Given the description of an element on the screen output the (x, y) to click on. 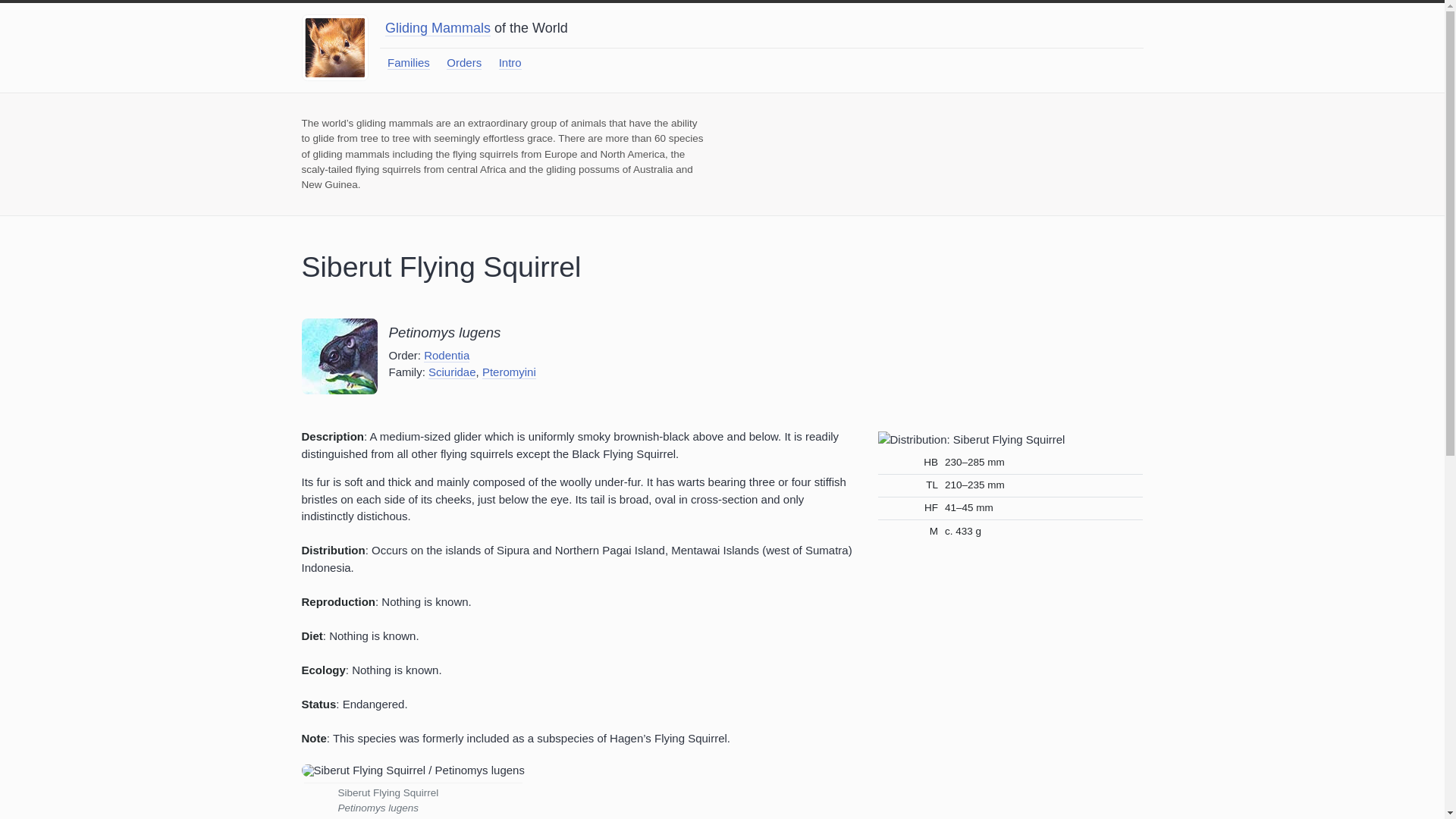
Intro (510, 62)
Orders (463, 62)
Gliding Mammals (437, 27)
Sciuridae (452, 372)
Pteromyini (508, 372)
Families (408, 62)
Rodentia (445, 355)
